Given the description of an element on the screen output the (x, y) to click on. 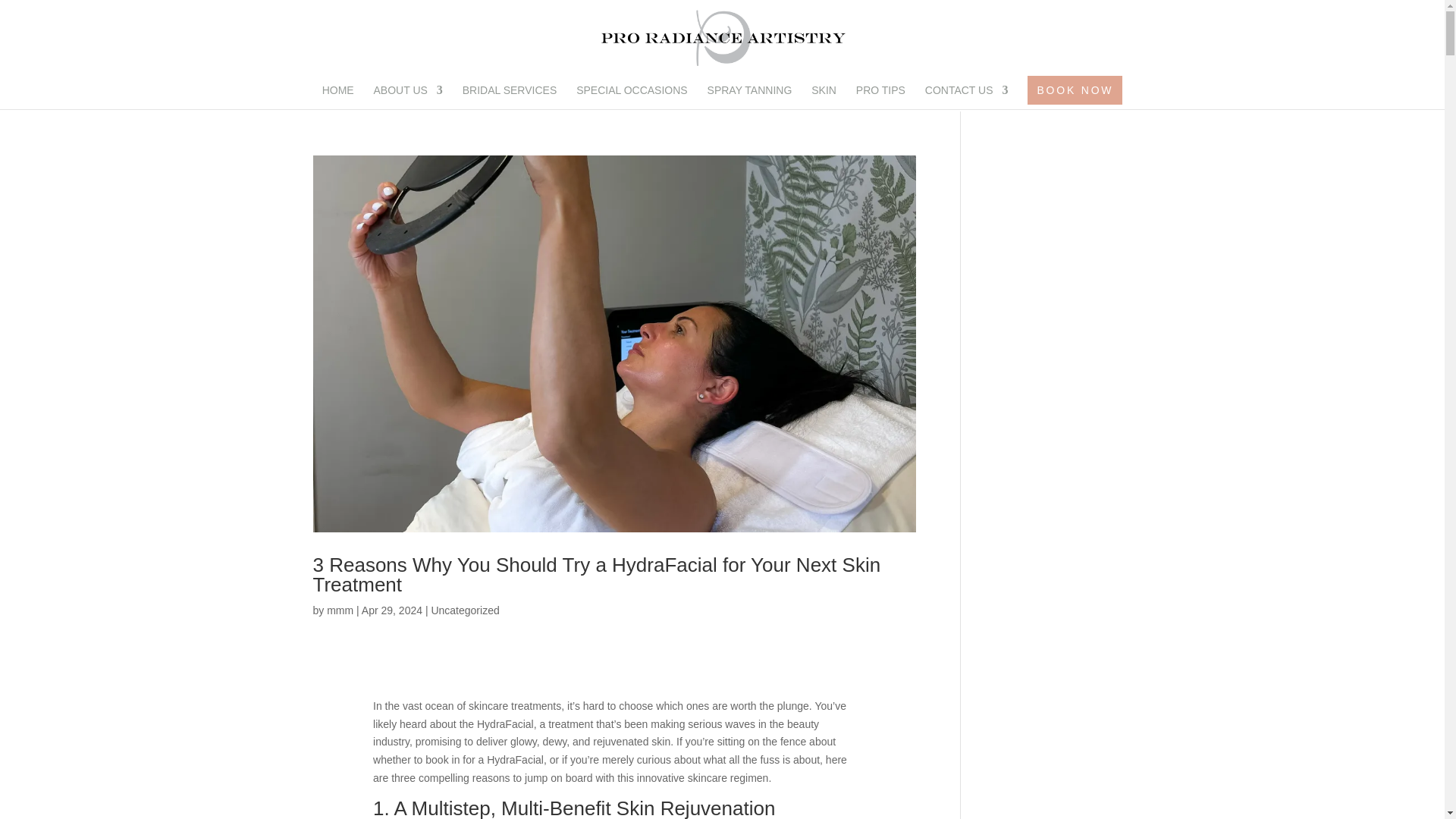
SKIN (822, 96)
ABOUT US (408, 96)
SPECIAL OCCASIONS (631, 96)
mmm (339, 610)
CONTACT US (966, 96)
BOOK NOW (1074, 90)
BRIDAL SERVICES (510, 96)
Posts by mmm (339, 610)
Uncategorized (464, 610)
HOME (337, 96)
SPRAY TANNING (749, 96)
PRO TIPS (880, 96)
